Given the description of an element on the screen output the (x, y) to click on. 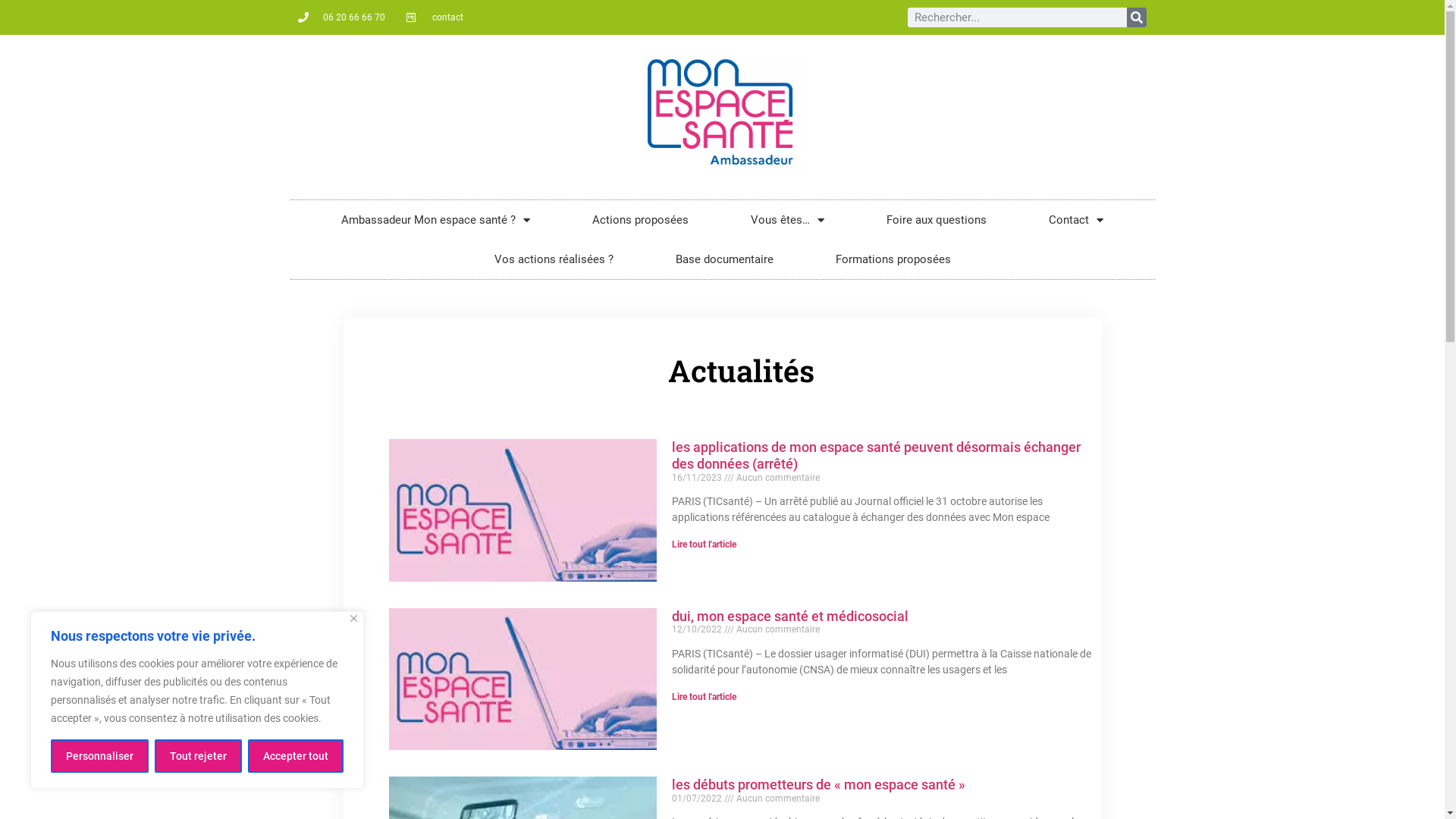
Personnaliser Element type: text (99, 755)
contact Element type: text (434, 17)
Foire aux questions Element type: text (936, 219)
Lire tout l'article Element type: text (703, 544)
Tout rejeter Element type: text (197, 755)
Base documentaire Element type: text (724, 259)
Accepter tout Element type: text (295, 755)
Contact Element type: text (1075, 219)
Lire tout l'article Element type: text (703, 696)
